Given the description of an element on the screen output the (x, y) to click on. 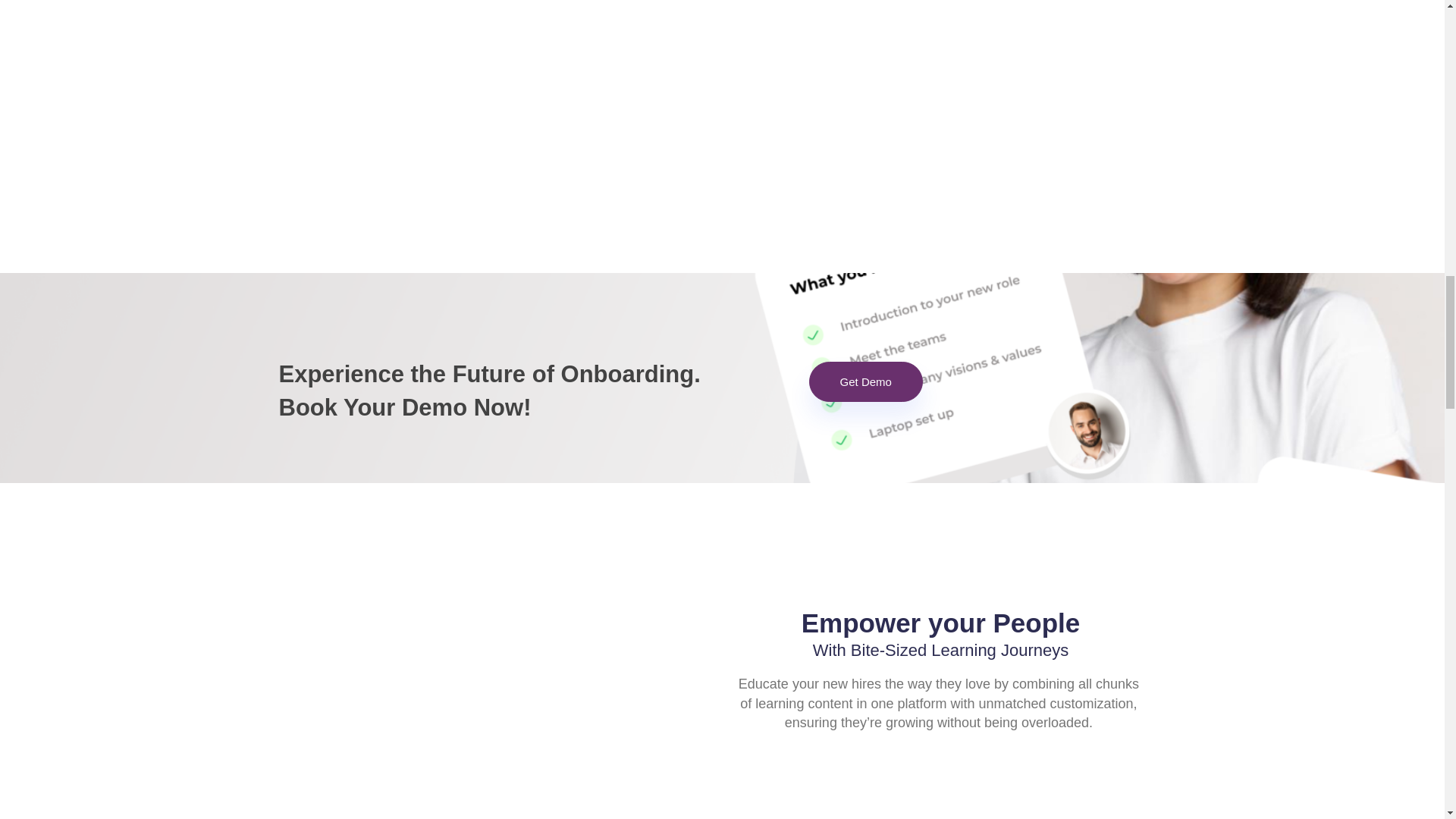
Get Demo (866, 381)
